Given the description of an element on the screen output the (x, y) to click on. 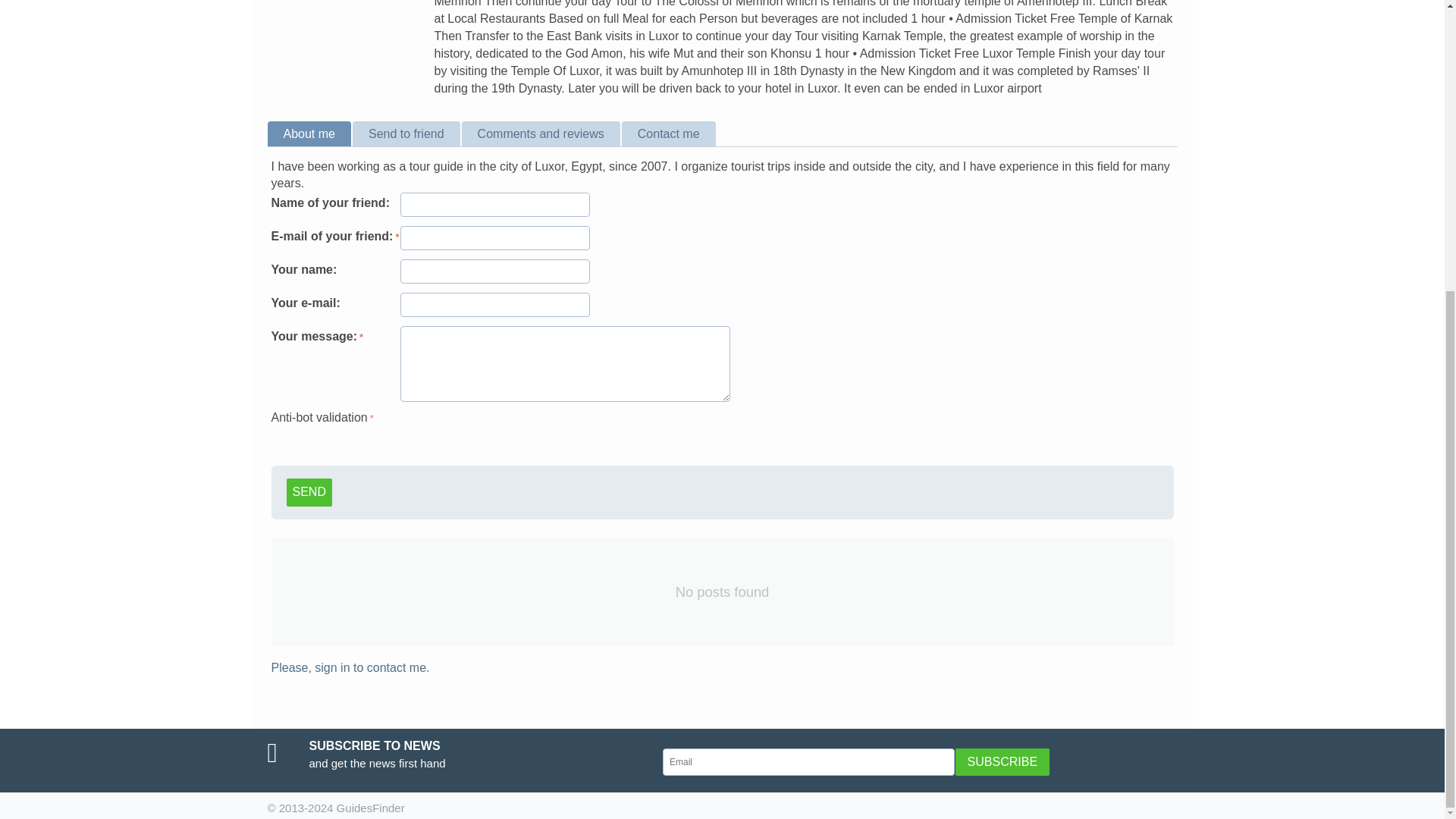
Please, sign in to contact me. (349, 667)
Contact me (670, 133)
Comments and reviews (542, 133)
About me (309, 133)
Send to friend (407, 133)
